Given the description of an element on the screen output the (x, y) to click on. 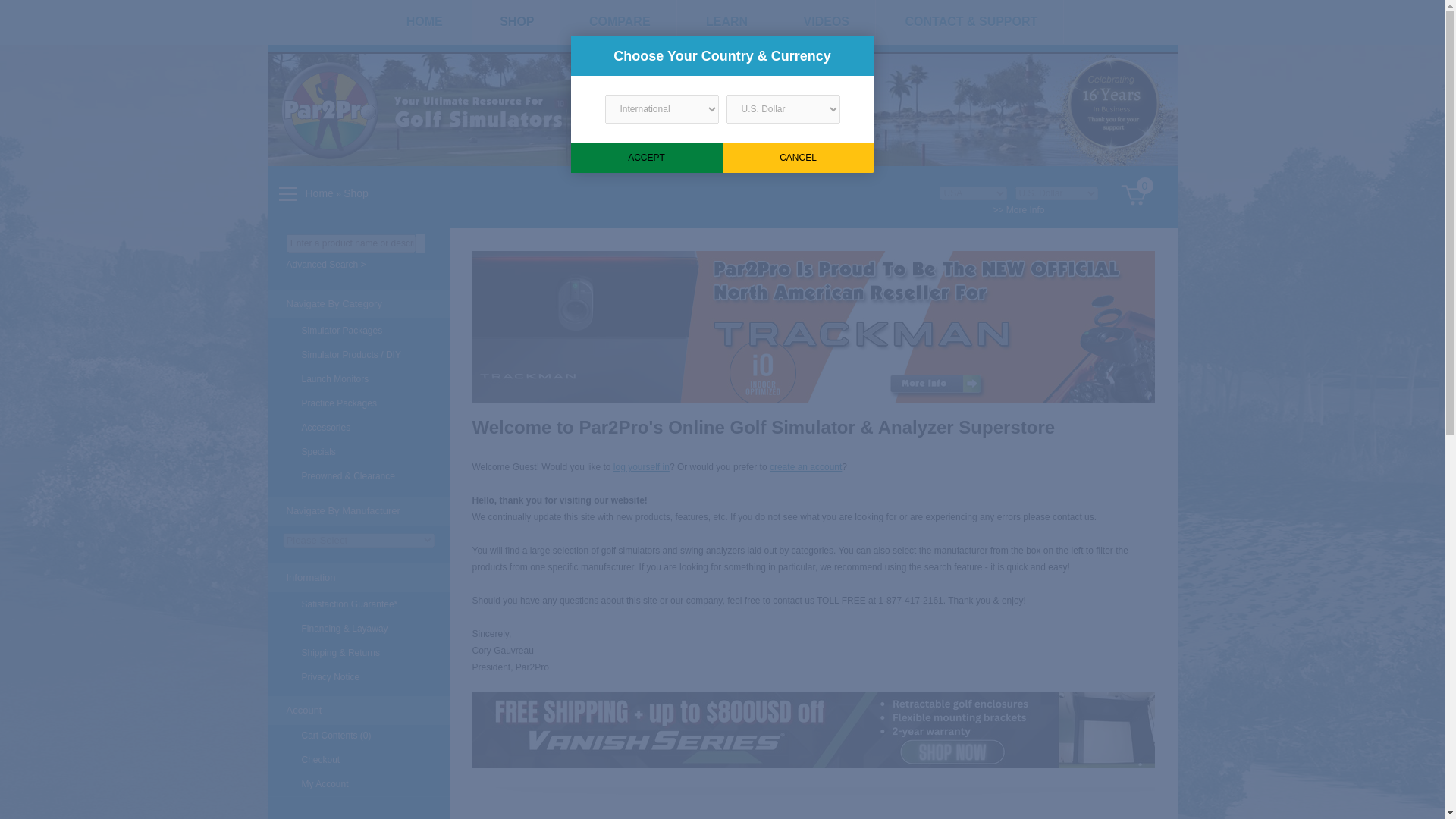
Specials (357, 451)
Checkout (357, 759)
HOME (424, 22)
VIDEOS (826, 22)
LEARN (726, 22)
COMPARE (620, 22)
Launch Monitors (357, 378)
 Enter a product name or description here (350, 243)
Practice Packages (357, 403)
Privacy Notice (357, 677)
My Account (357, 784)
SHOP (516, 22)
Account (357, 709)
Accessories (357, 427)
Accept (646, 157)
